Given the description of an element on the screen output the (x, y) to click on. 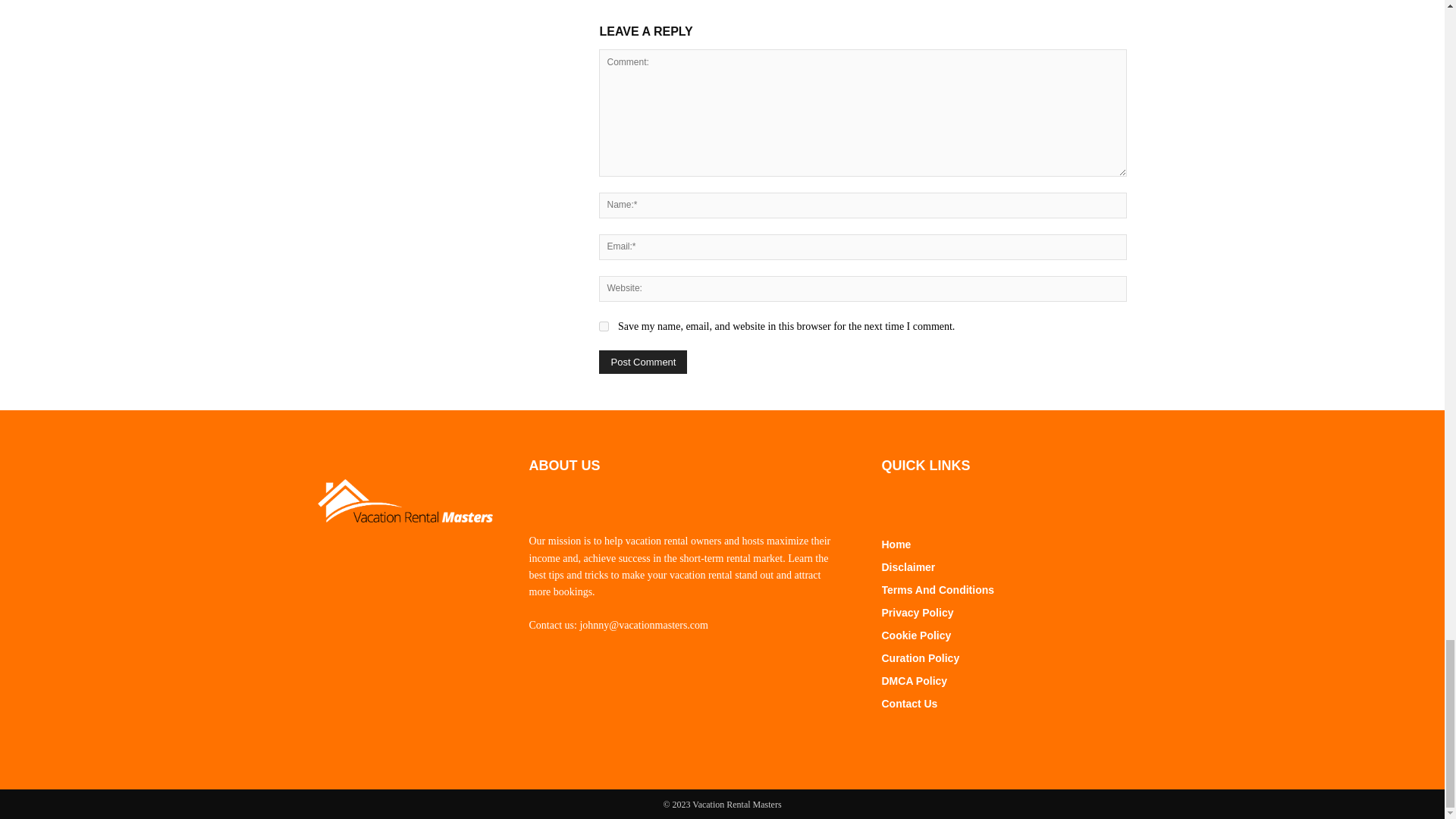
Post Comment (642, 361)
yes (603, 326)
